Given the description of an element on the screen output the (x, y) to click on. 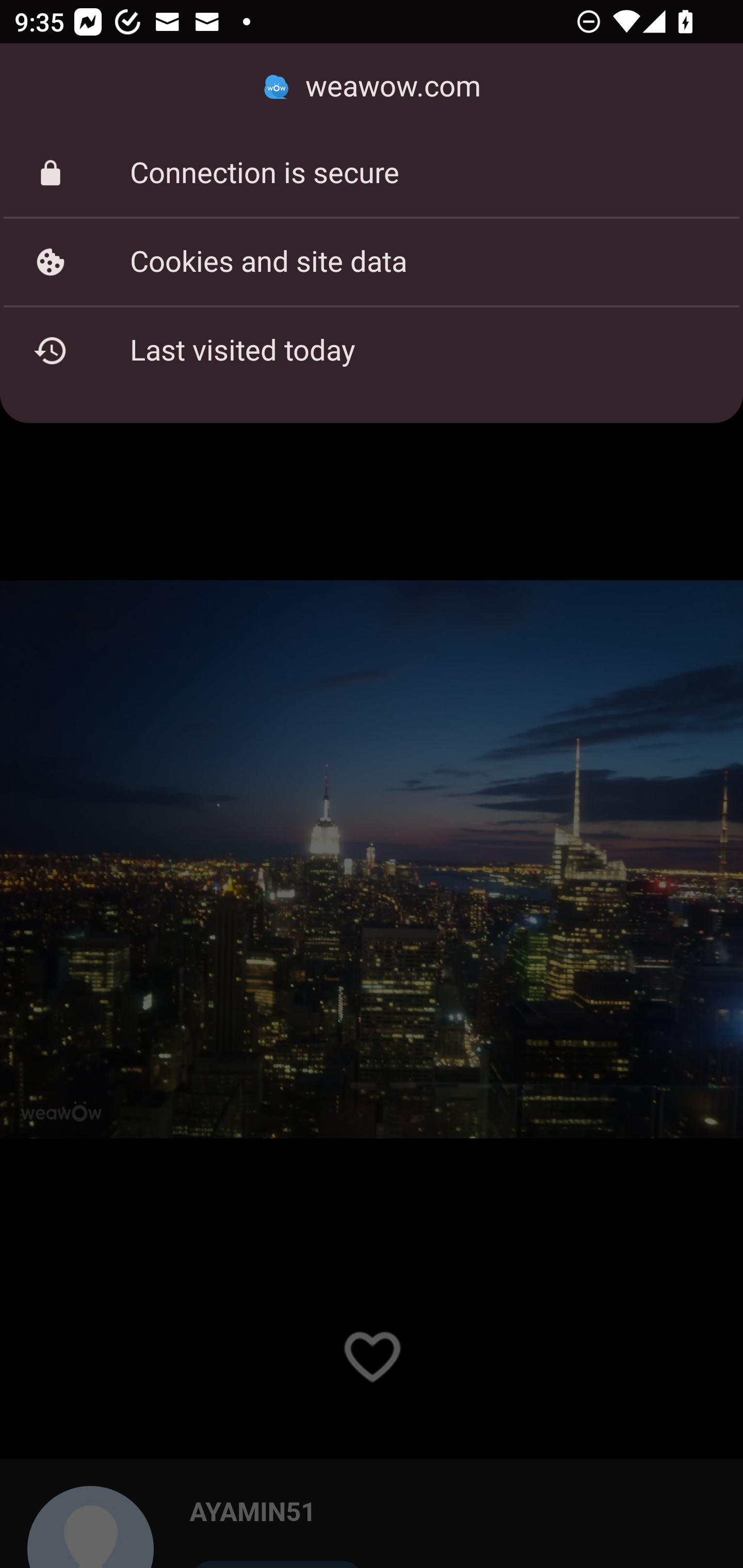
weawow.com (371, 86)
Connection is secure (371, 173)
Cookies and site data (371, 261)
Last visited today (371, 350)
